Given the description of an element on the screen output the (x, y) to click on. 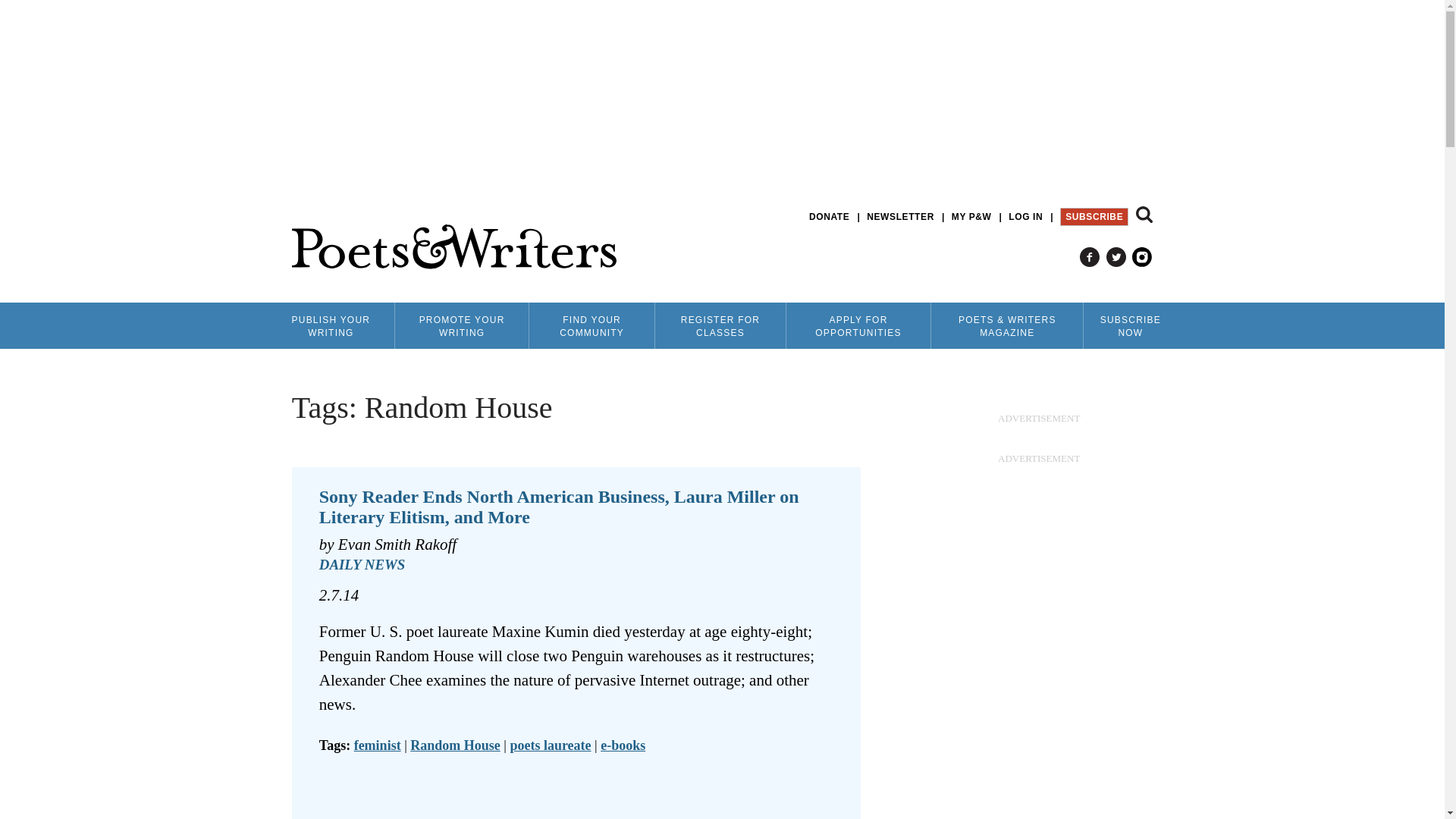
NEWSLETTER (900, 216)
PROMOTE YOUR WRITING (461, 325)
LOG IN (1025, 216)
Home (453, 246)
SUBSCRIBE (1093, 217)
PUBLISH YOUR WRITING (330, 325)
DONATE (828, 216)
Publish Your Writing (330, 325)
